Given the description of an element on the screen output the (x, y) to click on. 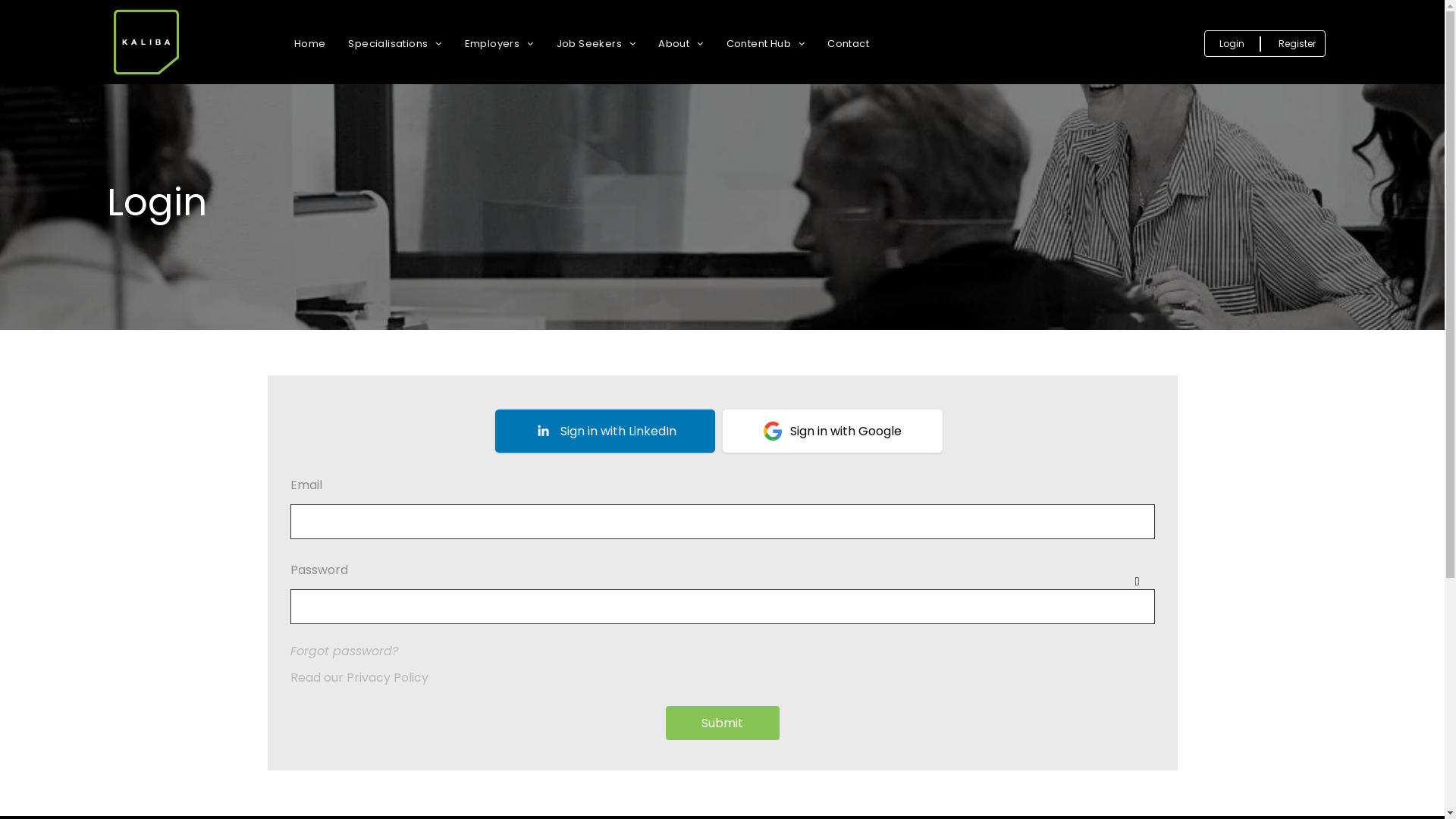
Forgot password? Element type: text (343, 650)
Login Element type: text (1231, 43)
Employers Element type: text (499, 43)
About Element type: text (680, 43)
Register Element type: text (1296, 43)
Read our Privacy Policy Element type: text (721, 677)
Job Seekers Element type: text (596, 43)
Home Element type: text (309, 43)
Contact Element type: text (847, 43)
Specialisations Element type: text (394, 43)
Content Hub Element type: text (765, 43)
